Given the description of an element on the screen output the (x, y) to click on. 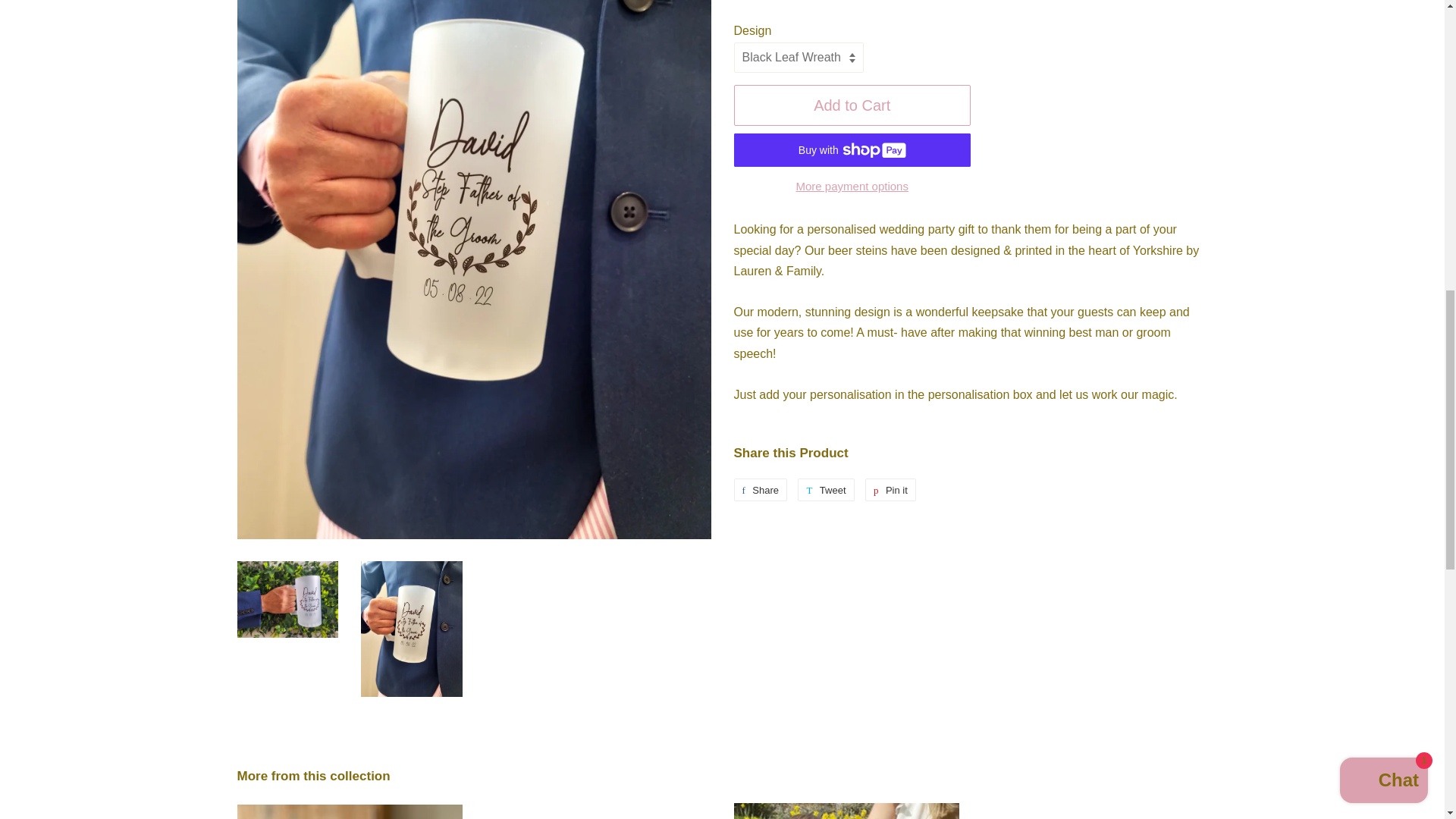
Tweet on Twitter (825, 489)
Share on Facebook (760, 489)
Pin on Pinterest (889, 489)
